Given the description of an element on the screen output the (x, y) to click on. 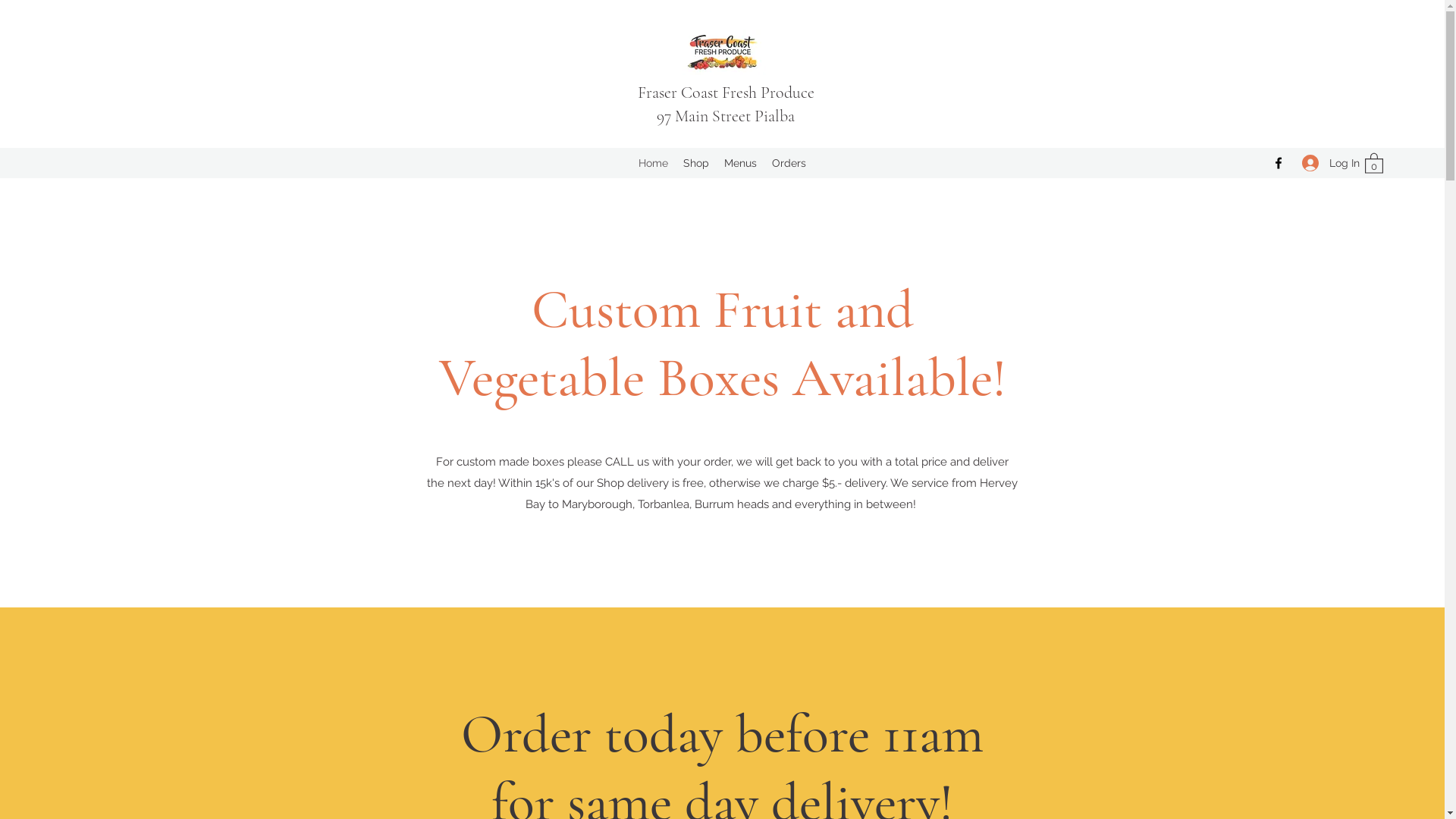
97 Main Street Pialba Element type: text (725, 115)
Log In Element type: text (1325, 162)
Orders Element type: text (788, 162)
Home Element type: text (652, 162)
Menus Element type: text (740, 162)
Shop Element type: text (695, 162)
Fraser Coast Fresh Produce Element type: text (725, 92)
0 Element type: text (1374, 162)
